Given the description of an element on the screen output the (x, y) to click on. 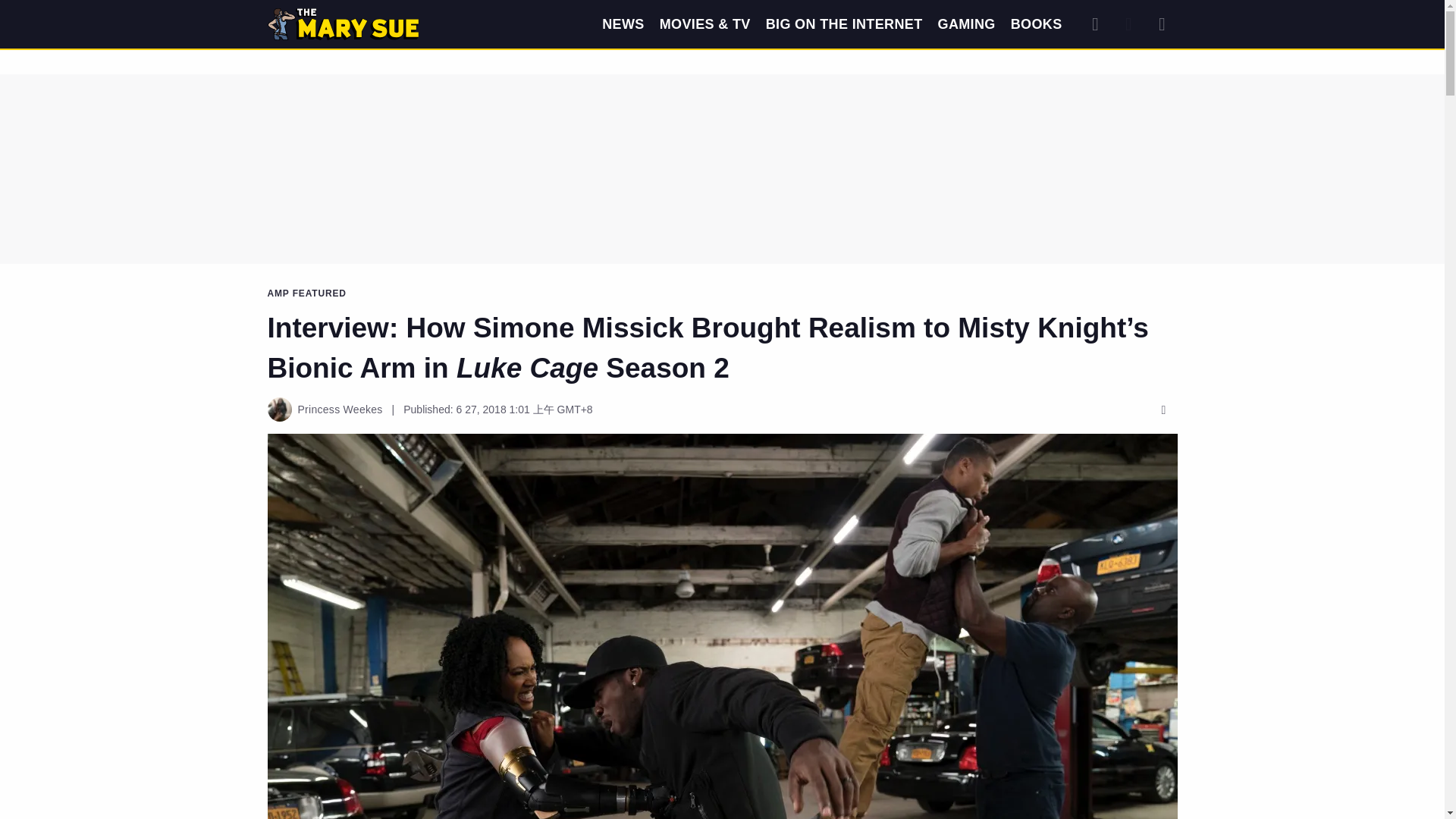
BOOKS (1036, 23)
GAMING (966, 23)
BIG ON THE INTERNET (844, 23)
Search (1094, 24)
NEWS (622, 23)
Dark Mode (1127, 24)
Expand Menu (1161, 24)
